Given the description of an element on the screen output the (x, y) to click on. 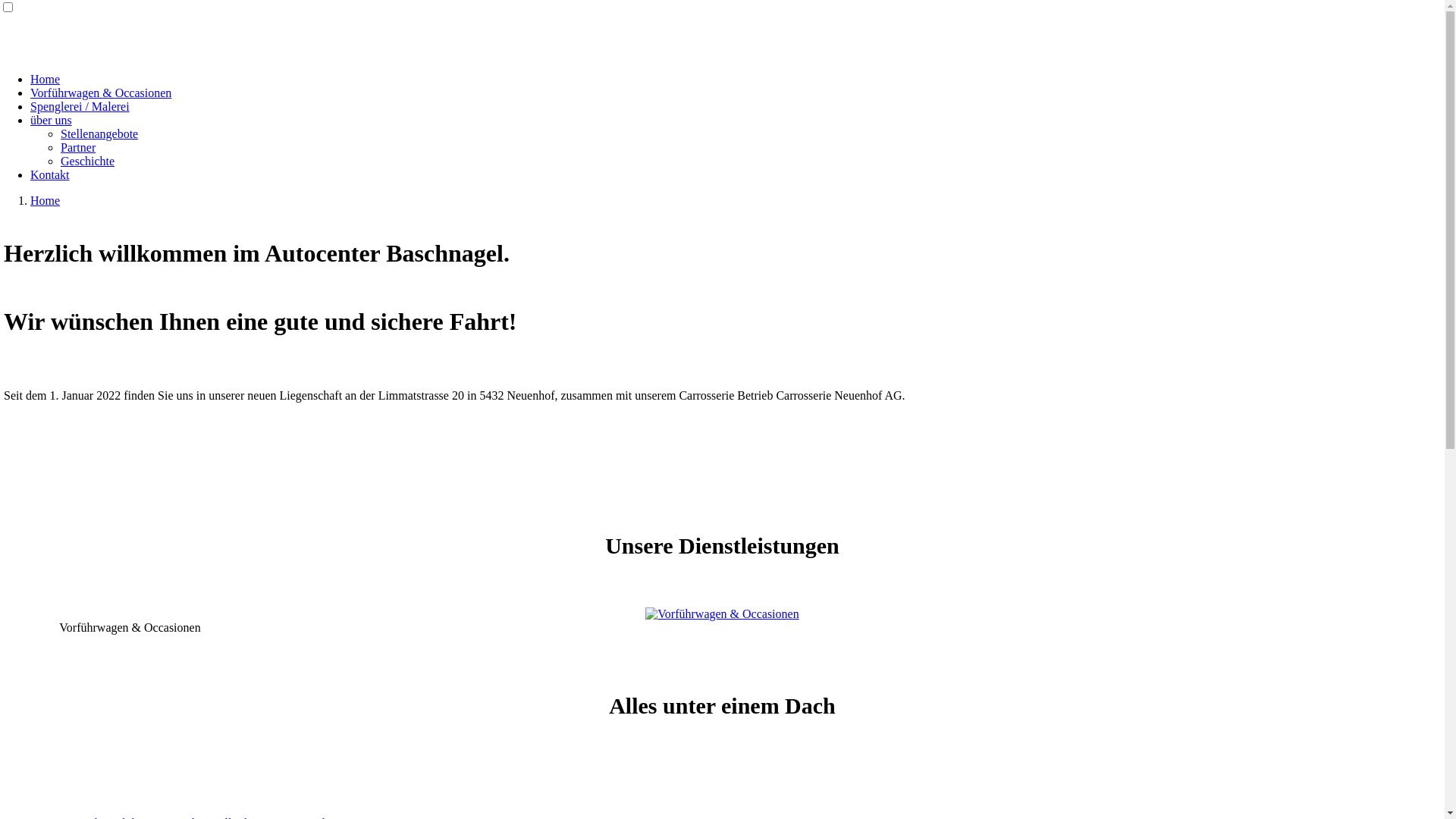
Home Element type: text (44, 78)
Stellenangebote Element type: text (99, 133)
Spenglerei / Malerei Element type: text (79, 106)
Geschichte Element type: text (87, 160)
Kontakt Element type: text (49, 174)
Home Element type: text (44, 200)
Partner Element type: text (77, 147)
